Given the description of an element on the screen output the (x, y) to click on. 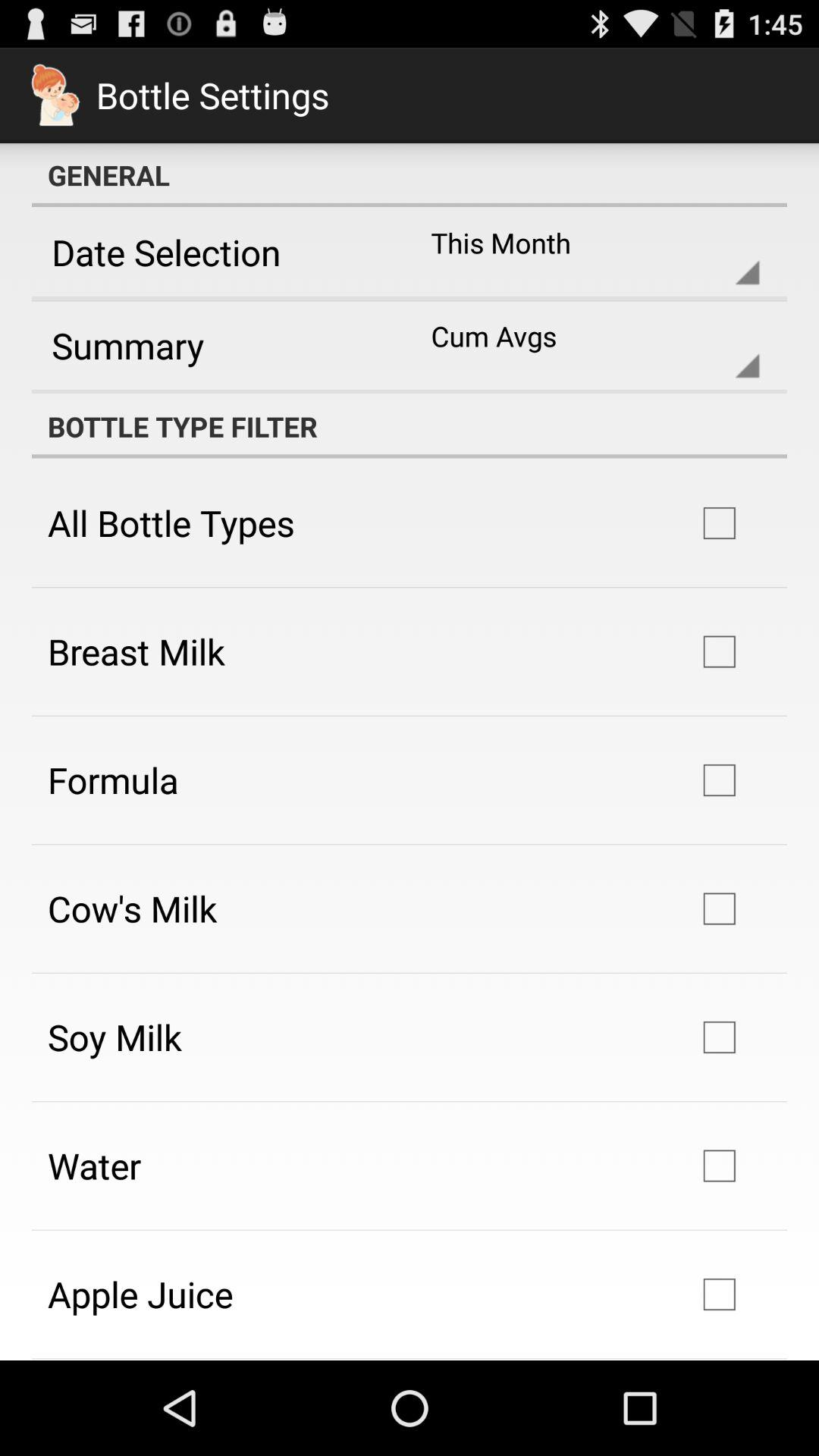
select icon to the right of the date selection app (583, 252)
